Given the description of an element on the screen output the (x, y) to click on. 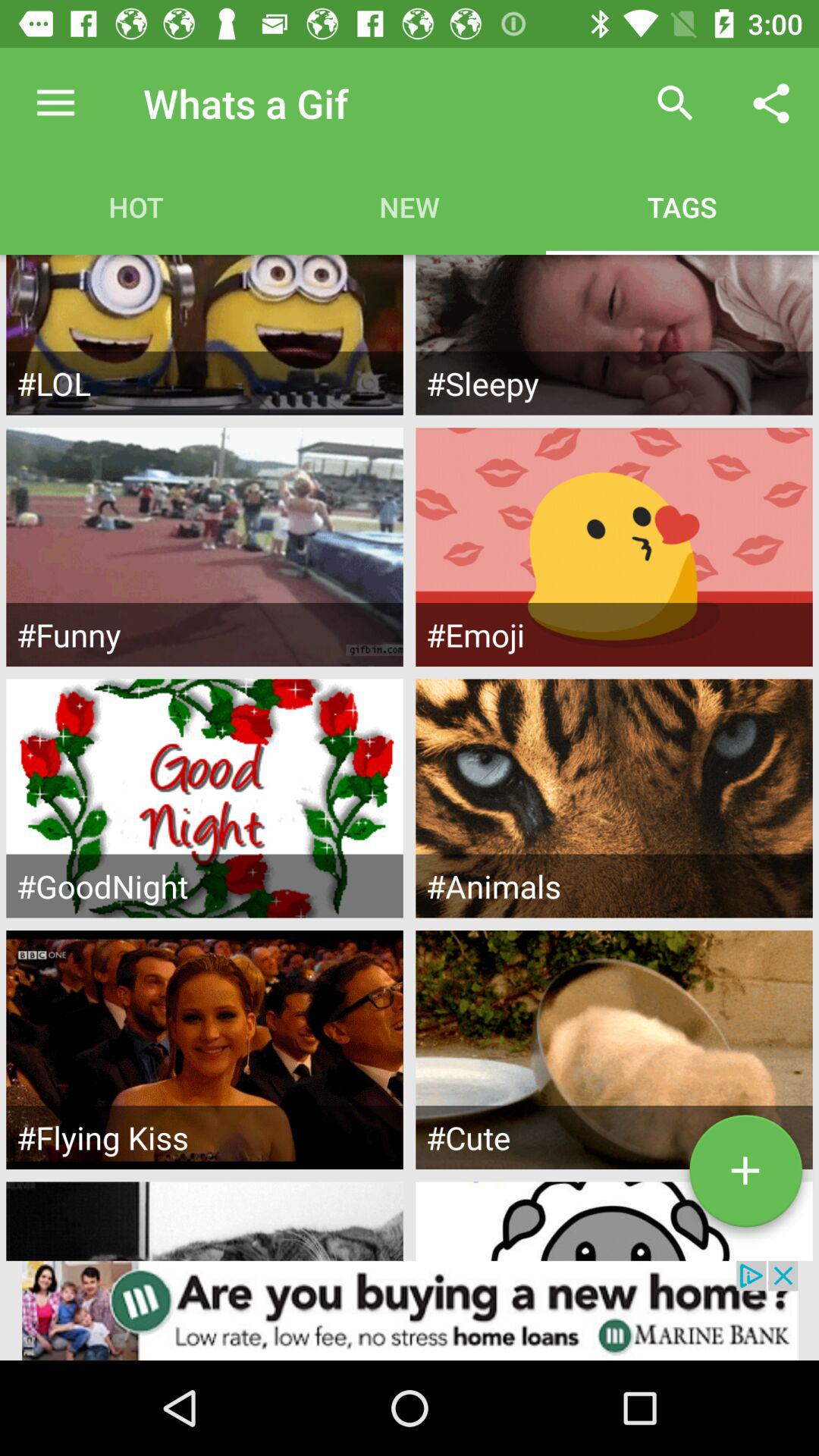
click on sleepy below tags (614, 334)
